Given the description of an element on the screen output the (x, y) to click on. 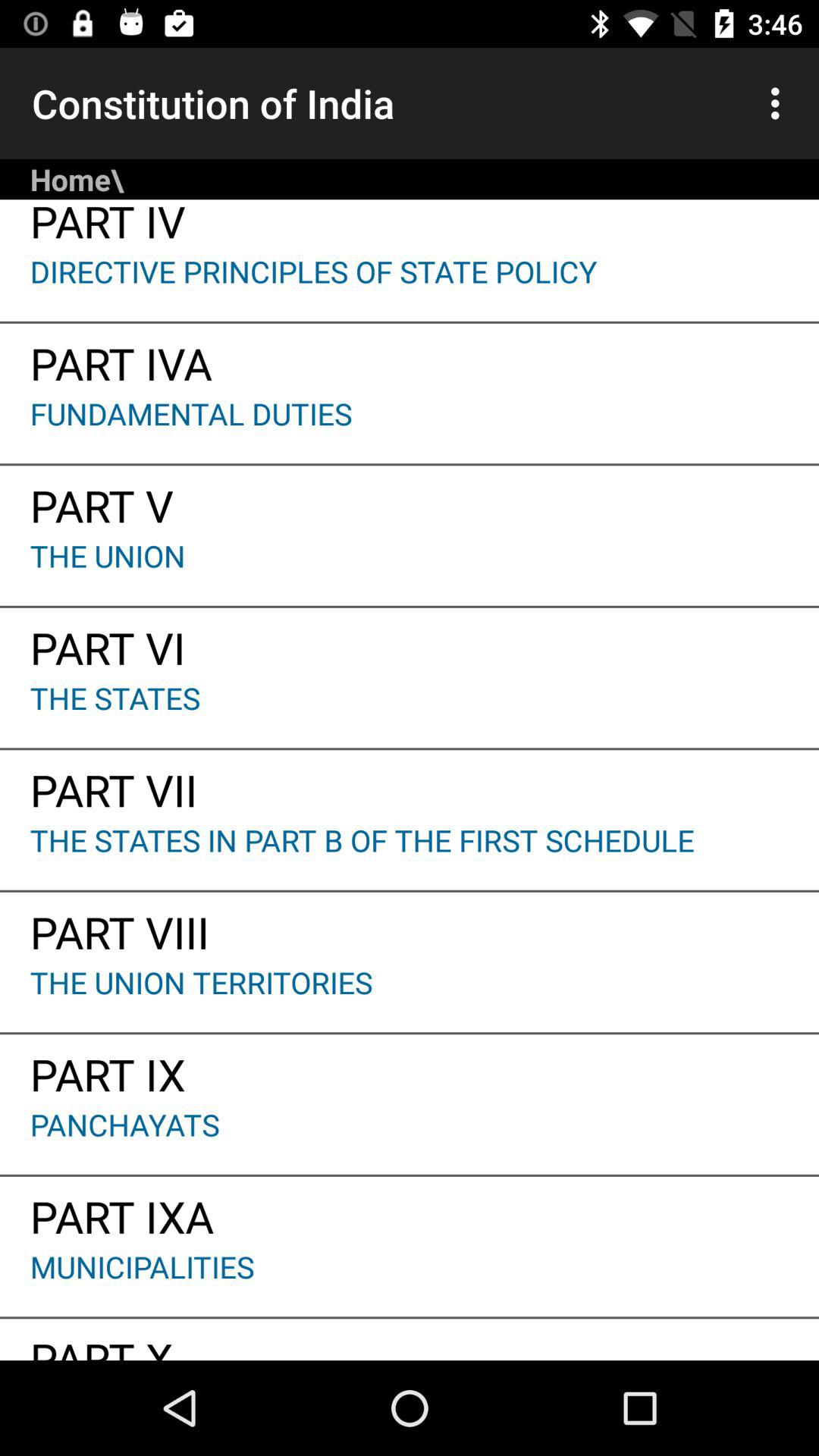
flip until panchayats app (409, 1139)
